Given the description of an element on the screen output the (x, y) to click on. 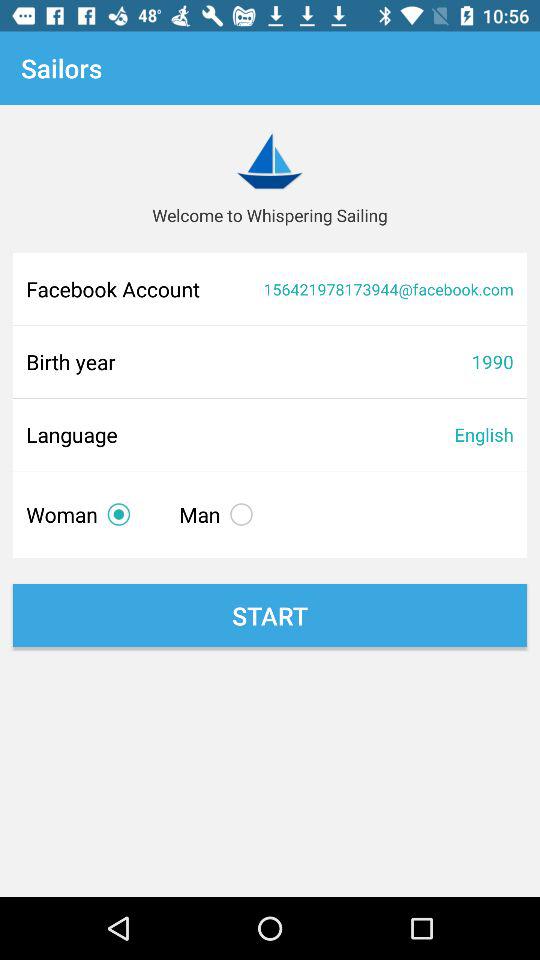
flip to start icon (269, 615)
